Given the description of an element on the screen output the (x, y) to click on. 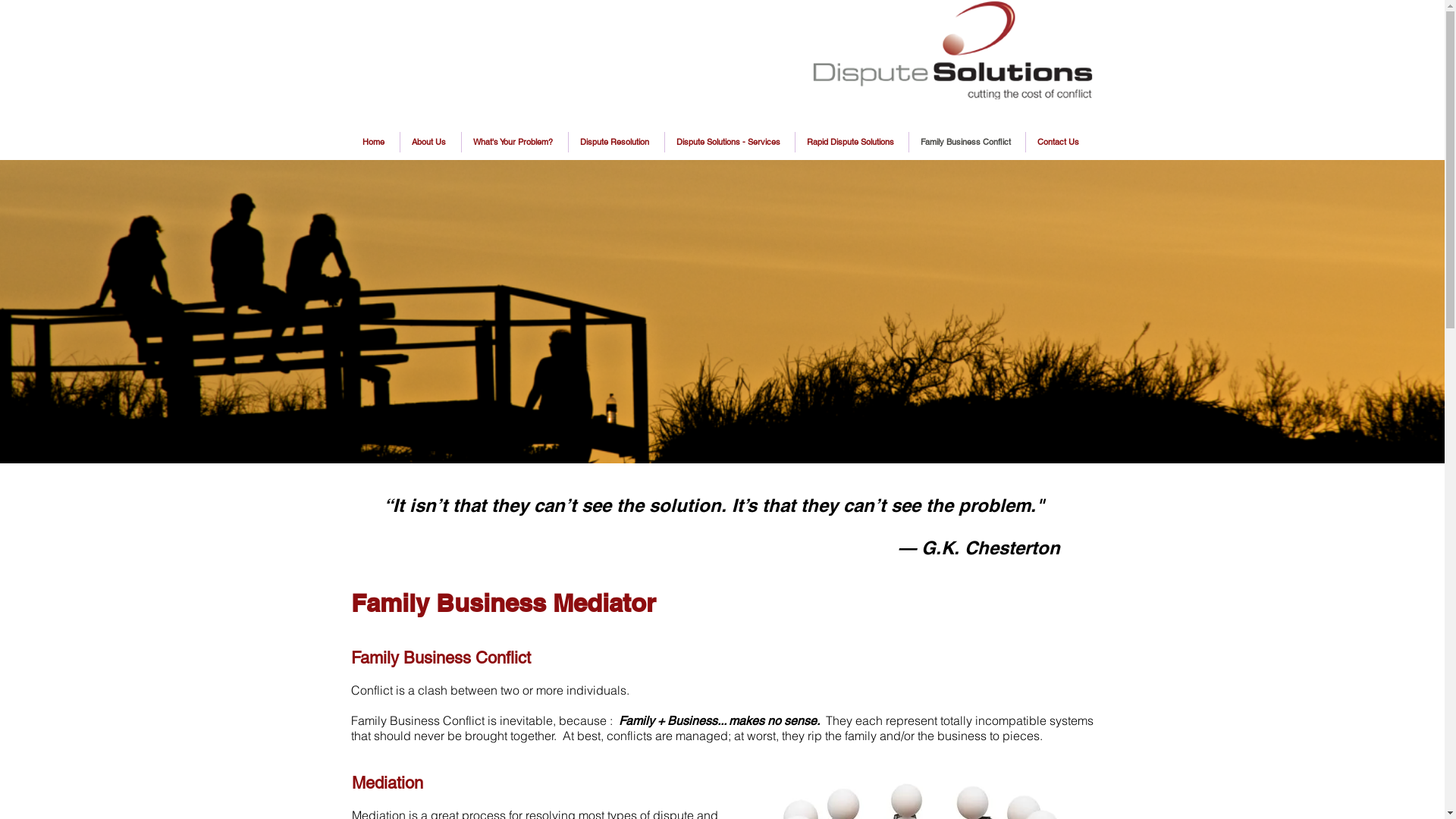
About Us Element type: text (430, 141)
Family Business Conflict Element type: text (966, 141)
Contact Us Element type: text (1058, 141)
Embedded Content Element type: hover (437, 48)
What's Your Problem? Element type: text (514, 141)
Rapid Dispute Solutions Element type: text (850, 141)
Home Element type: text (374, 141)
Embedded Content Element type: hover (437, 23)
Dispute Solutions - Services Element type: text (728, 141)
Dispute Resolution Element type: text (616, 141)
